Given the description of an element on the screen output the (x, y) to click on. 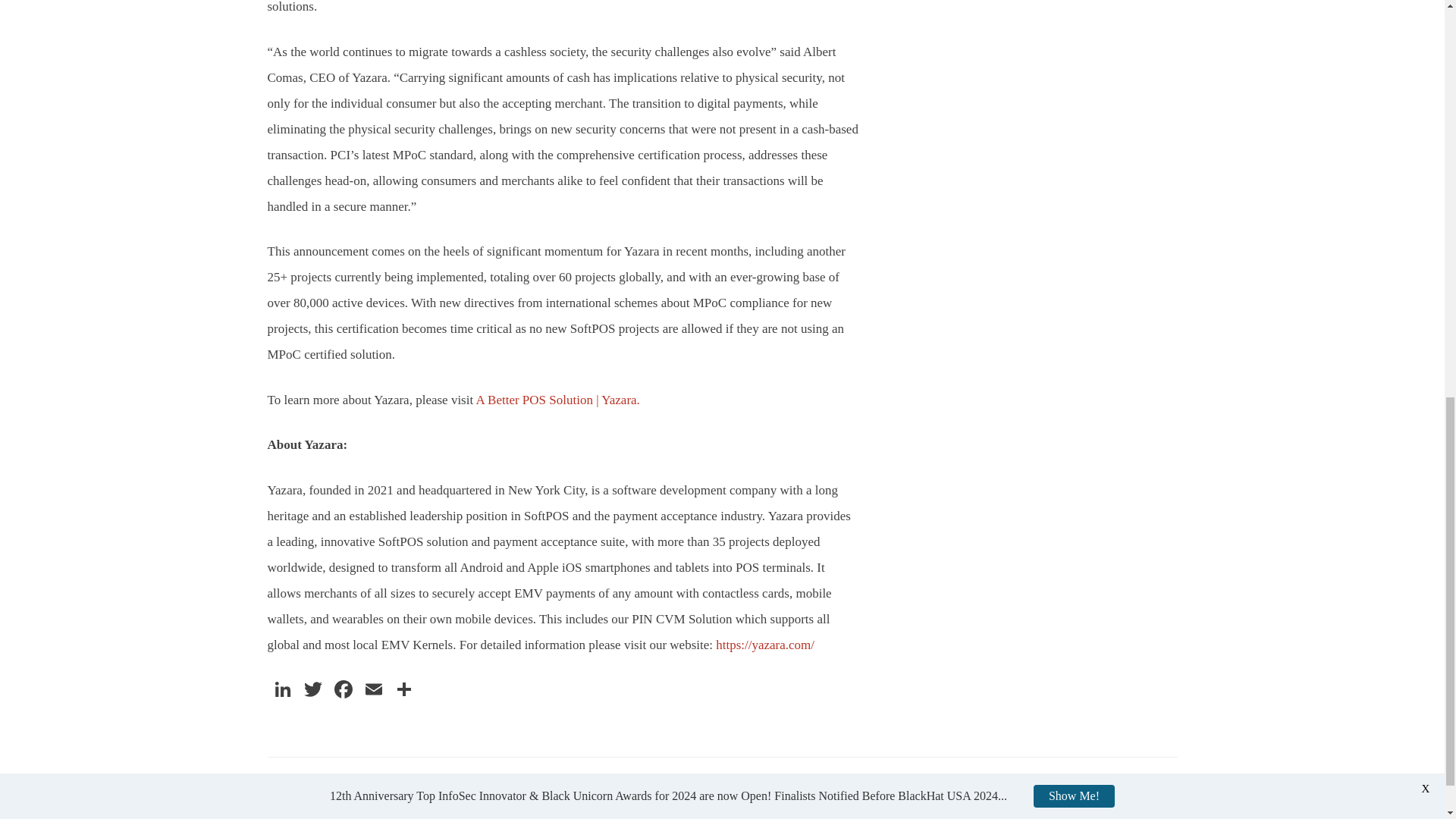
Fair Use Notice (459, 803)
Twitter (312, 691)
Cybersecurity Marketing (550, 803)
Privacy Policy (297, 803)
LinkedIn (281, 691)
Facebook (342, 691)
LinkedIn (281, 691)
Facebook (342, 691)
Twitter (312, 691)
Email (373, 691)
